Given the description of an element on the screen output the (x, y) to click on. 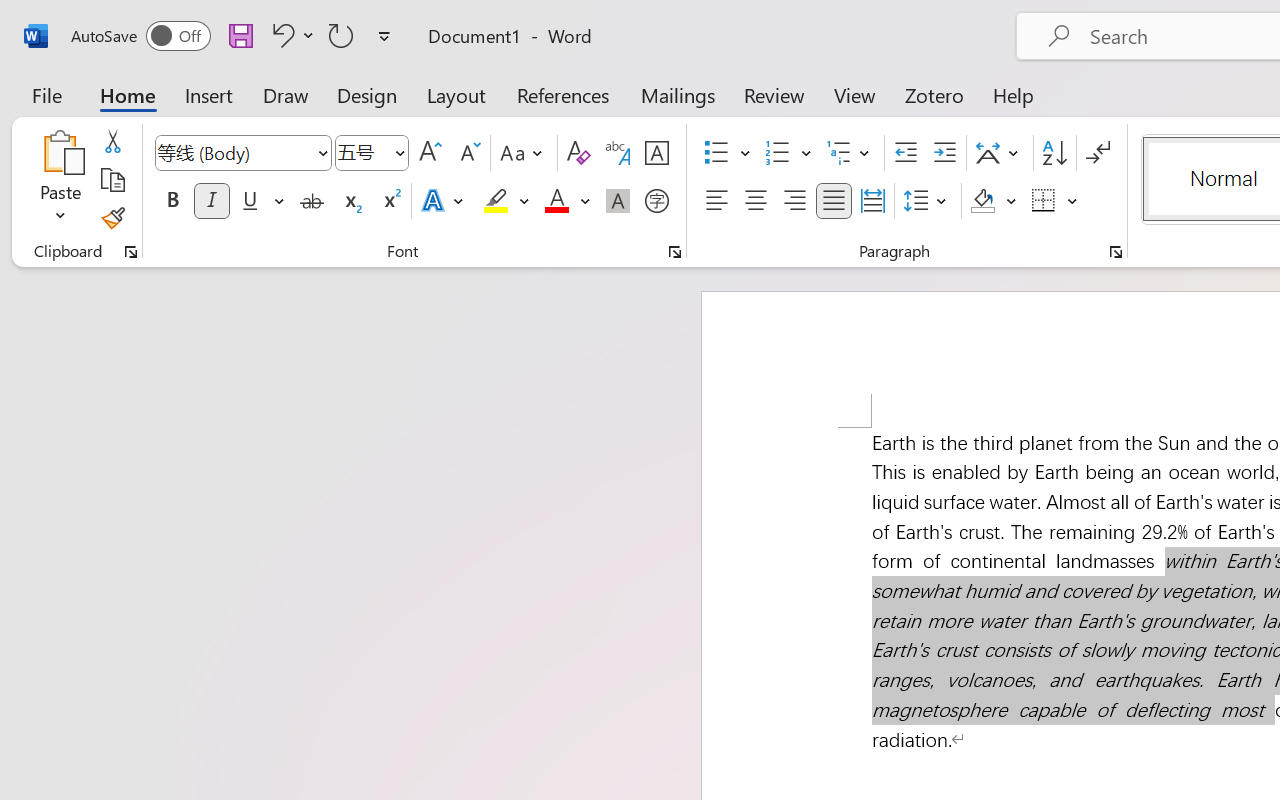
Superscript (390, 201)
Multilevel List (850, 153)
Sort... (1054, 153)
Center (756, 201)
Increase Indent (944, 153)
Align Right (794, 201)
Strikethrough (312, 201)
Character Border (656, 153)
